Given the description of an element on the screen output the (x, y) to click on. 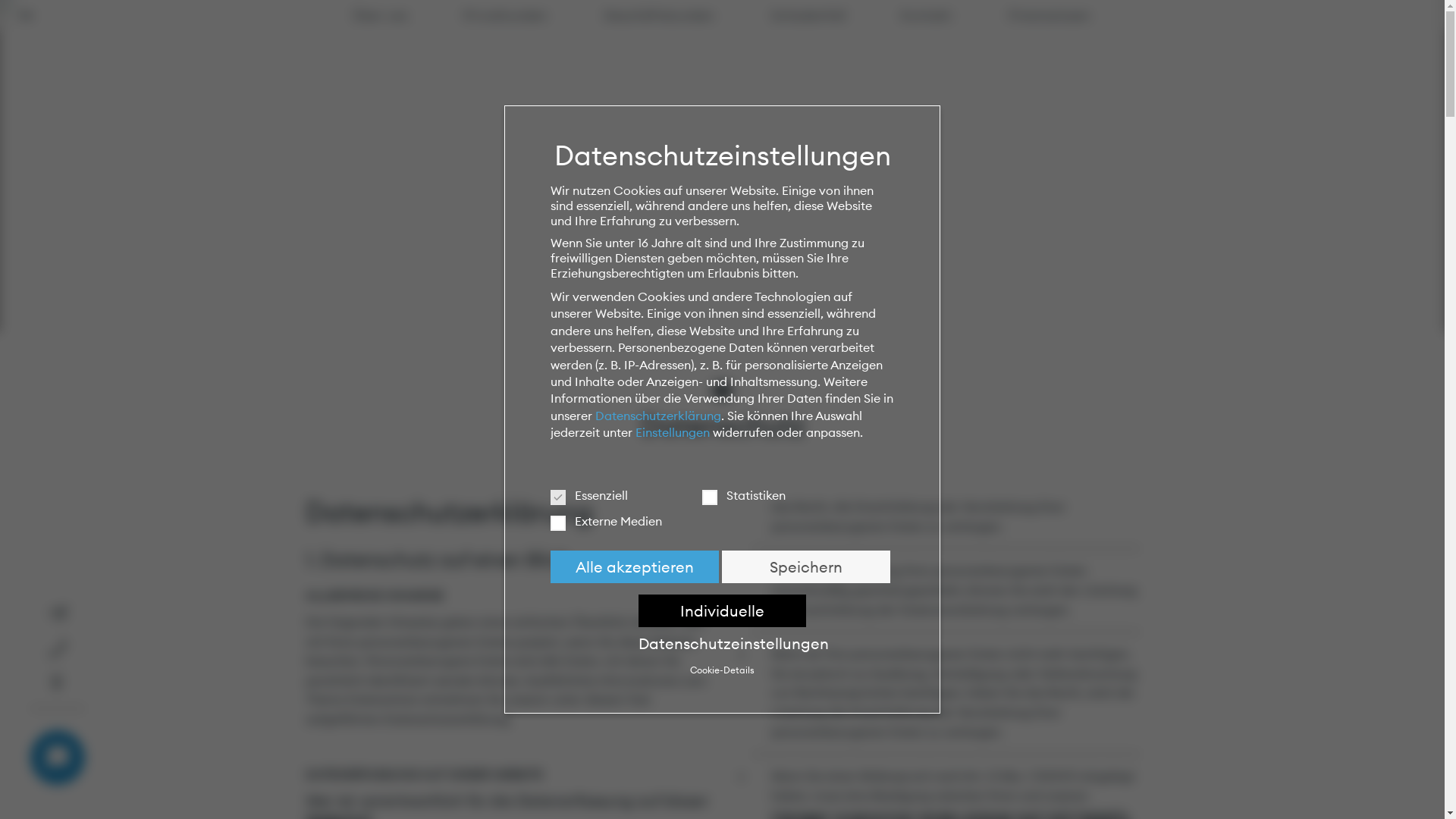
Individuelle Datenschutzeinstellungen Element type: text (722, 610)
Schadenfall Element type: text (808, 15)
Privatkunden Element type: text (504, 15)
Alle akzeptieren Element type: text (634, 566)
Senden Element type: text (896, 593)
Speichern Element type: text (805, 566)
EN Element type: text (25, 15)
Finanzwissen Element type: text (1049, 15)
Carefinance
  Element type: text (1415, 15)
Cookie-Details Element type: text (722, 669)
Einstellungen Element type: text (672, 431)
Kontakt Element type: text (926, 15)
